Given the description of an element on the screen output the (x, y) to click on. 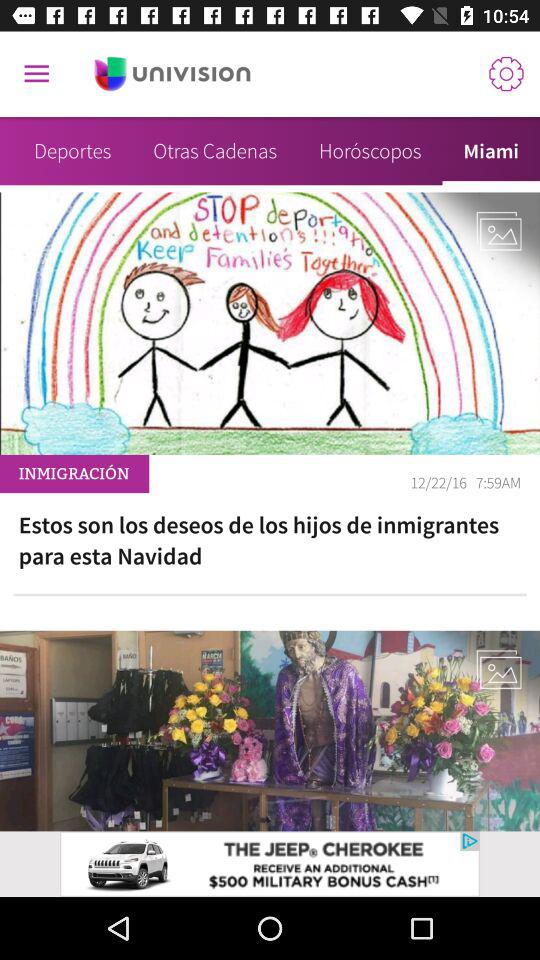
click on the button at the top right corner of the page (506, 74)
